Given the description of an element on the screen output the (x, y) to click on. 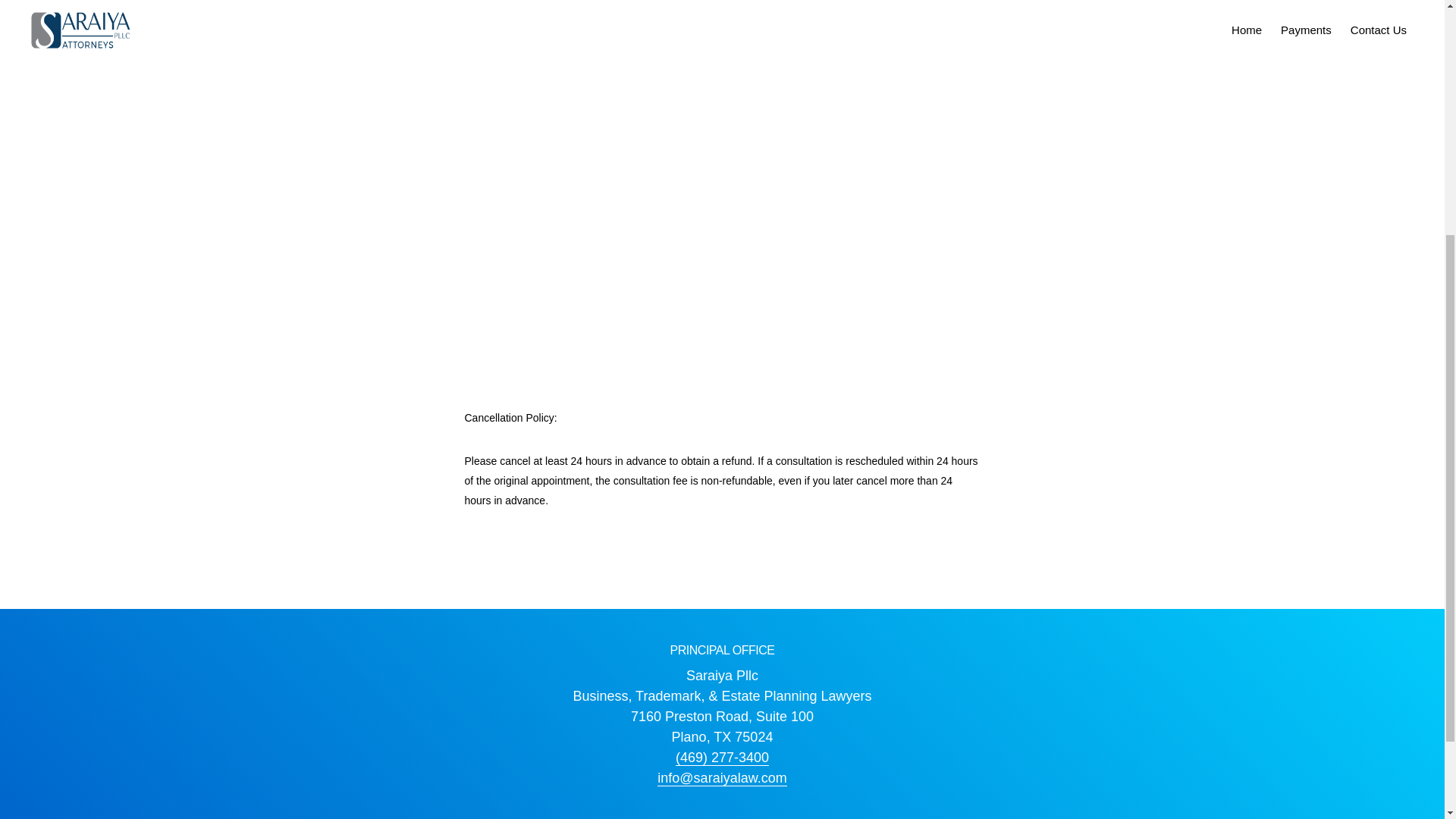
Log in (764, 386)
SITEMAP (556, 412)
ATTORNEY ADVERTISING (658, 412)
